Given the description of an element on the screen output the (x, y) to click on. 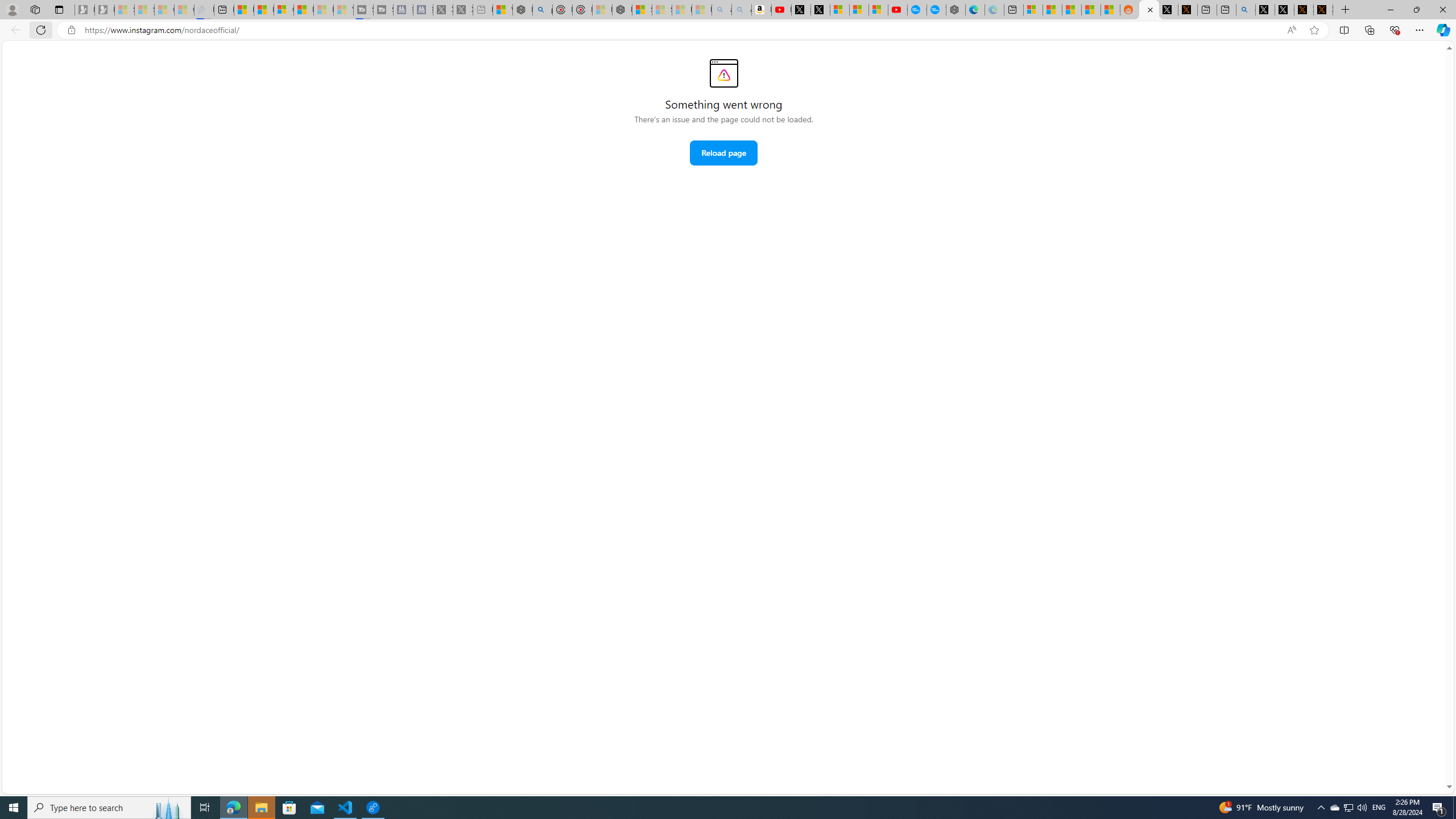
poe - Search (542, 9)
Log in to X / X (1168, 9)
Gloom - YouTube (897, 9)
Reload page (723, 152)
Wildlife - MSN (501, 9)
App bar (728, 29)
Profile / X (1264, 9)
Nordace - Summer Adventures 2024 (522, 9)
